Given the description of an element on the screen output the (x, y) to click on. 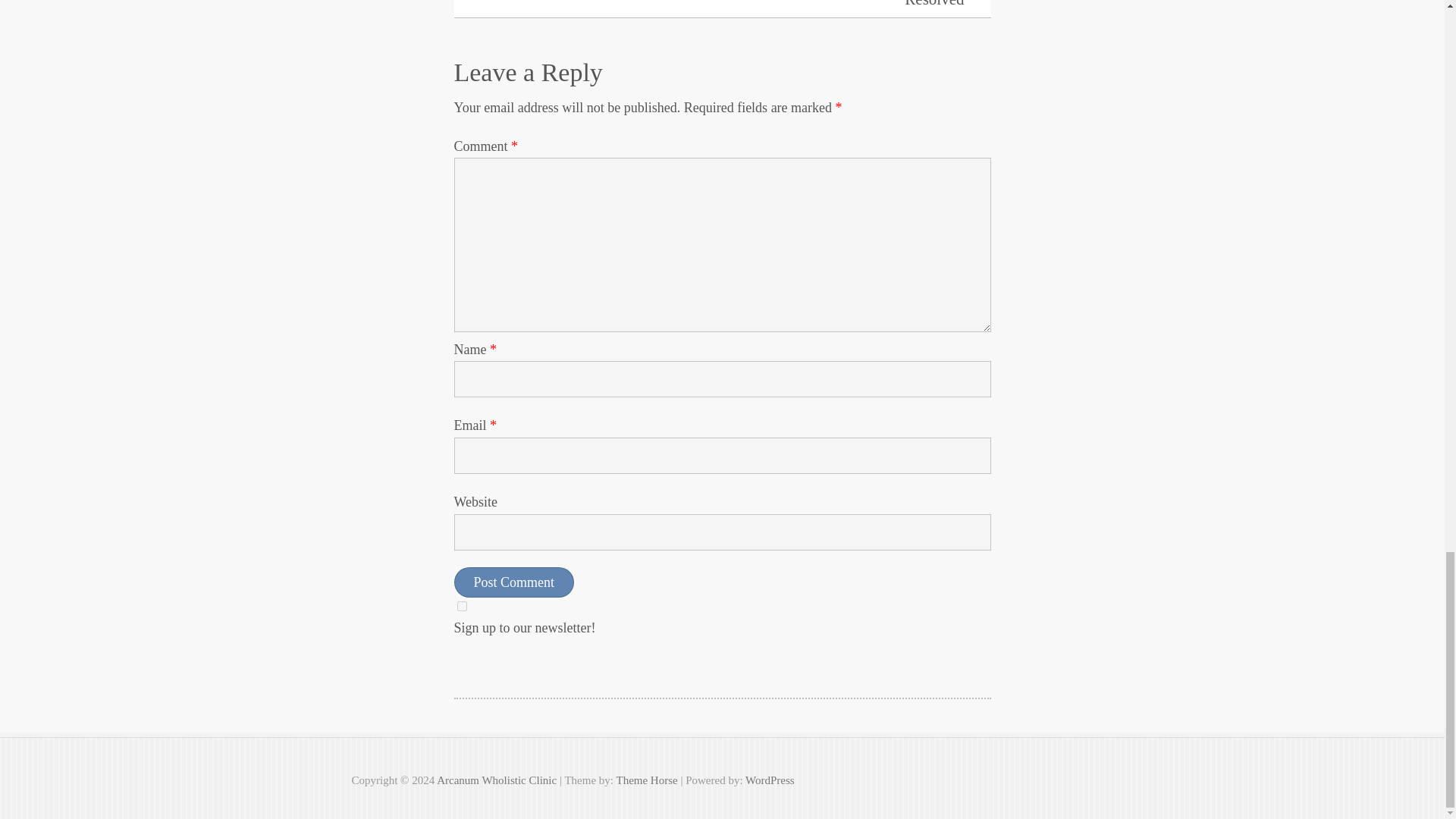
Arcanum Wholistic Clinic (496, 779)
WordPress (769, 779)
Theme Horse (646, 779)
Post Comment (512, 582)
1 (461, 605)
